Given the description of an element on the screen output the (x, y) to click on. 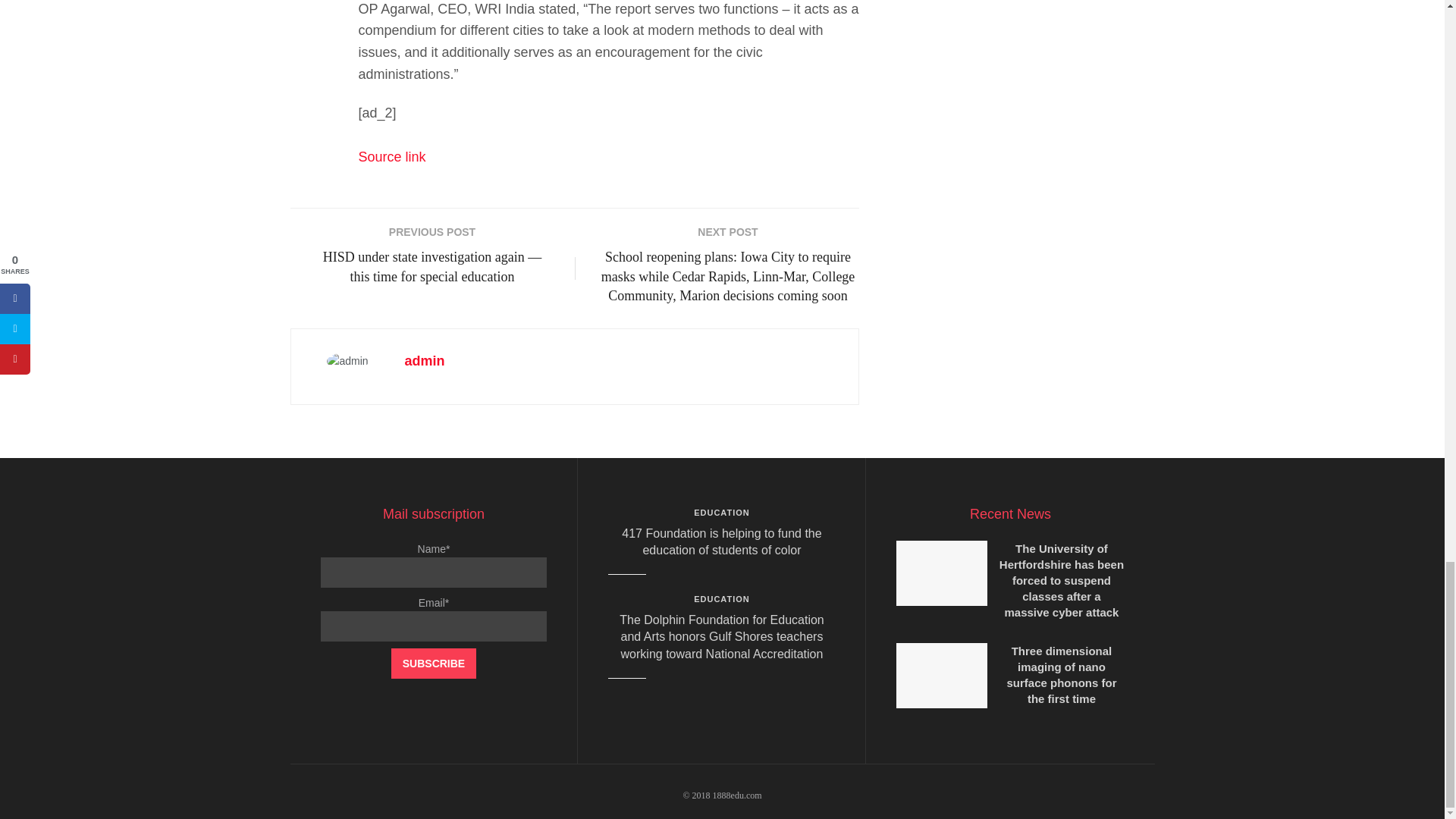
admin (424, 360)
Source link (391, 156)
Subscribe (433, 663)
